Given the description of an element on the screen output the (x, y) to click on. 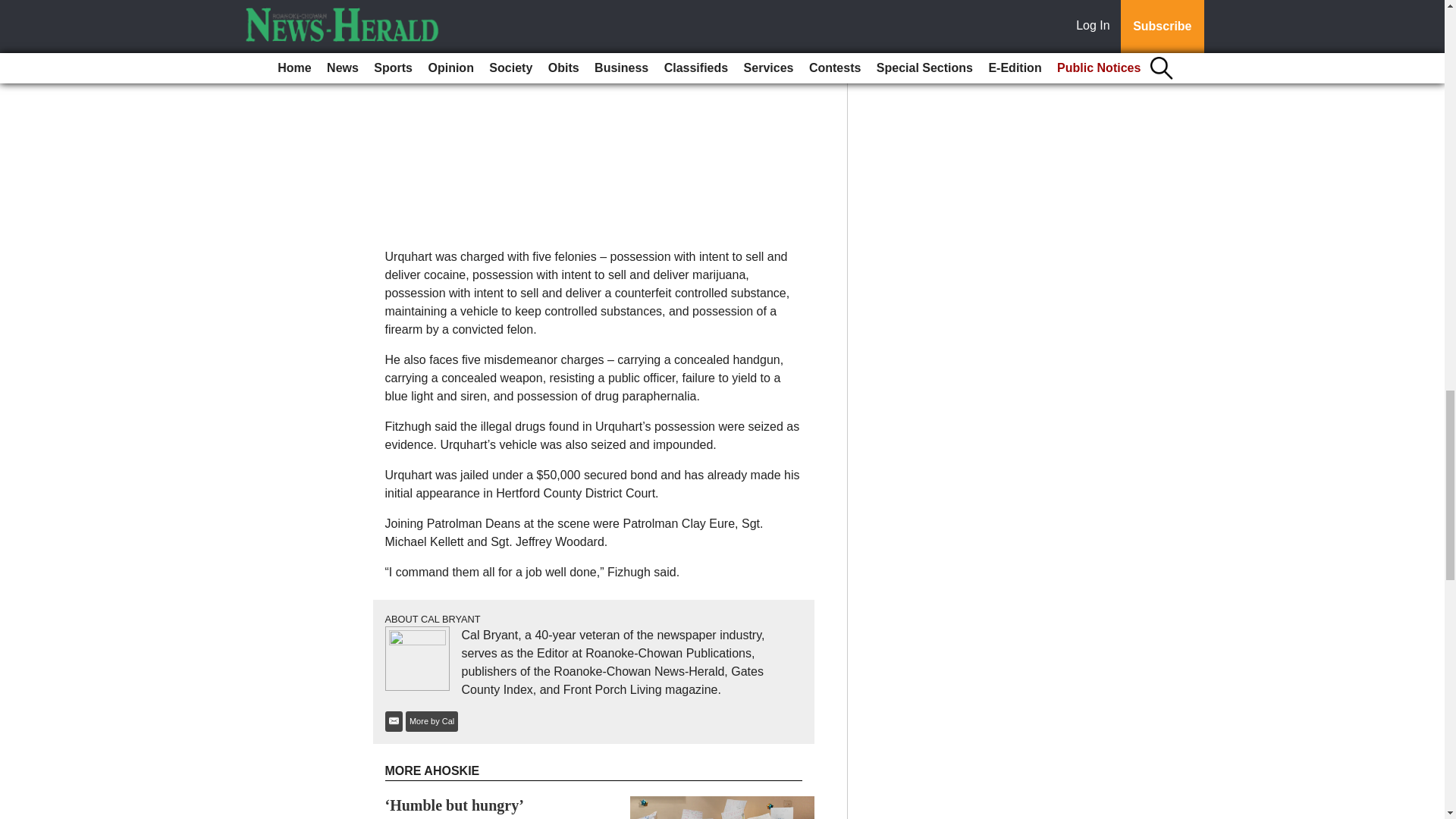
More by Cal (432, 721)
